Given the description of an element on the screen output the (x, y) to click on. 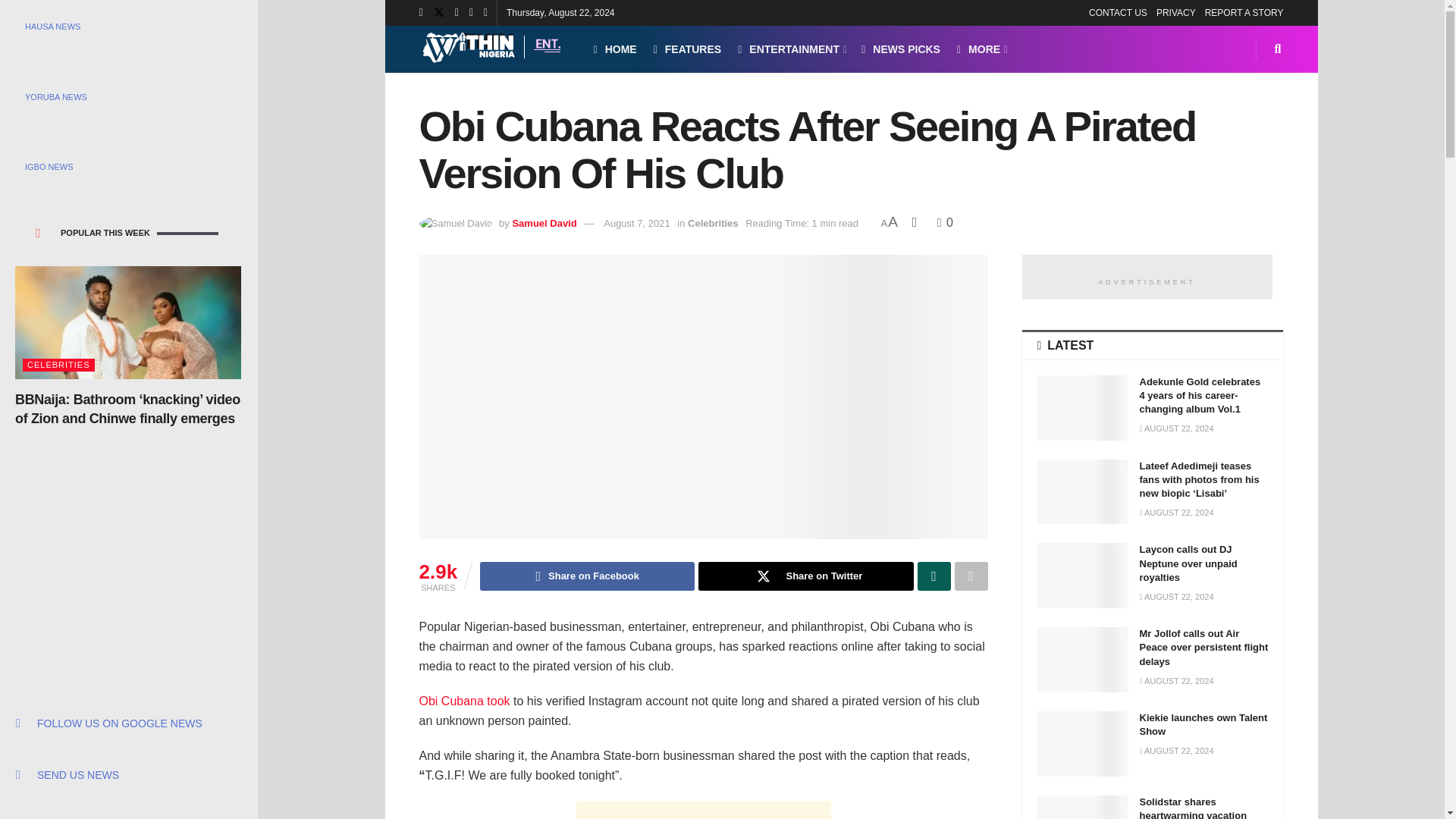
YORUBA NEWS (127, 96)
SEND NEWS TO WITHIN NIGERIA (128, 774)
ENTERTAINMENT (791, 48)
REPORT A STORY (1244, 12)
MORE (981, 48)
Advertisement (128, 561)
HOME (614, 48)
IGBO NEWS (127, 166)
YORUBA NEWS (127, 96)
PRIVACY (1175, 12)
